Given the description of an element on the screen output the (x, y) to click on. 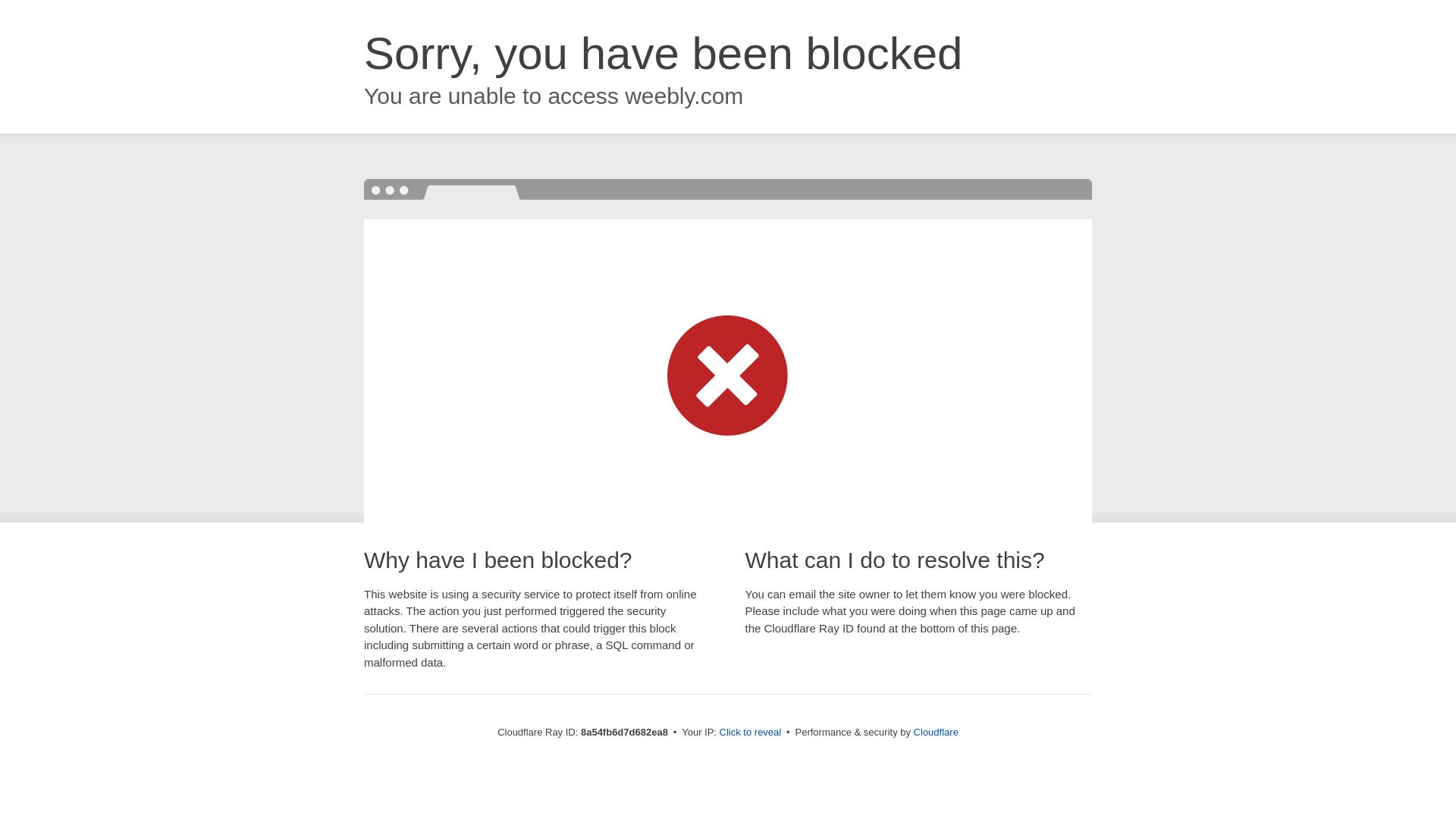
Click to reveal (750, 732)
Cloudflare (936, 731)
